Given the description of an element on the screen output the (x, y) to click on. 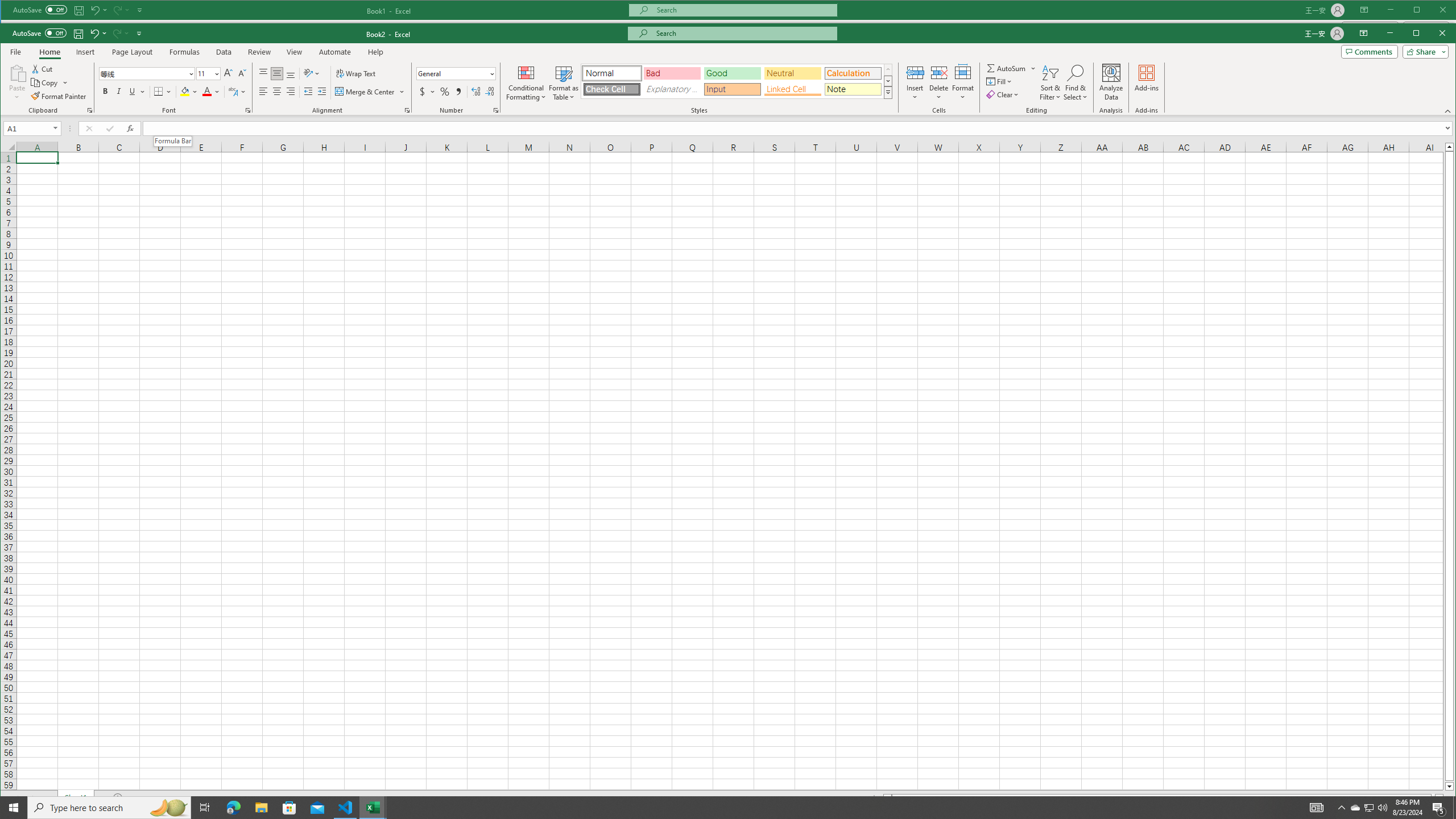
Conditional Formatting (526, 82)
Decrease Font Size (241, 73)
Line up (1449, 146)
Format Cell Alignment (407, 109)
Row Down (887, 80)
Accounting Number Format (422, 91)
Page right (1433, 798)
Underline (132, 91)
Comments (1368, 51)
Font Color (210, 91)
Font Size (204, 73)
Row up (887, 69)
Good (731, 73)
